Given the description of an element on the screen output the (x, y) to click on. 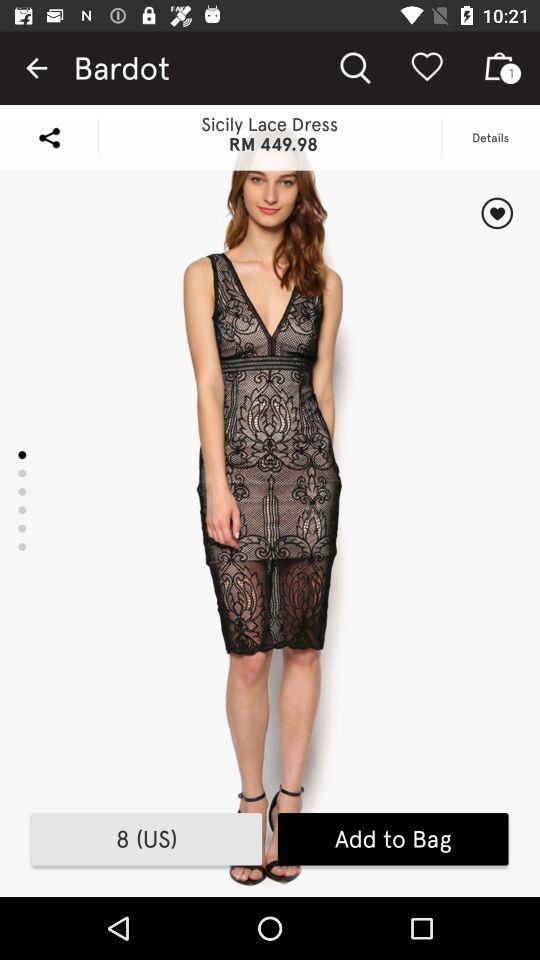
tap the item above the add to bag icon (496, 213)
